Given the description of an element on the screen output the (x, y) to click on. 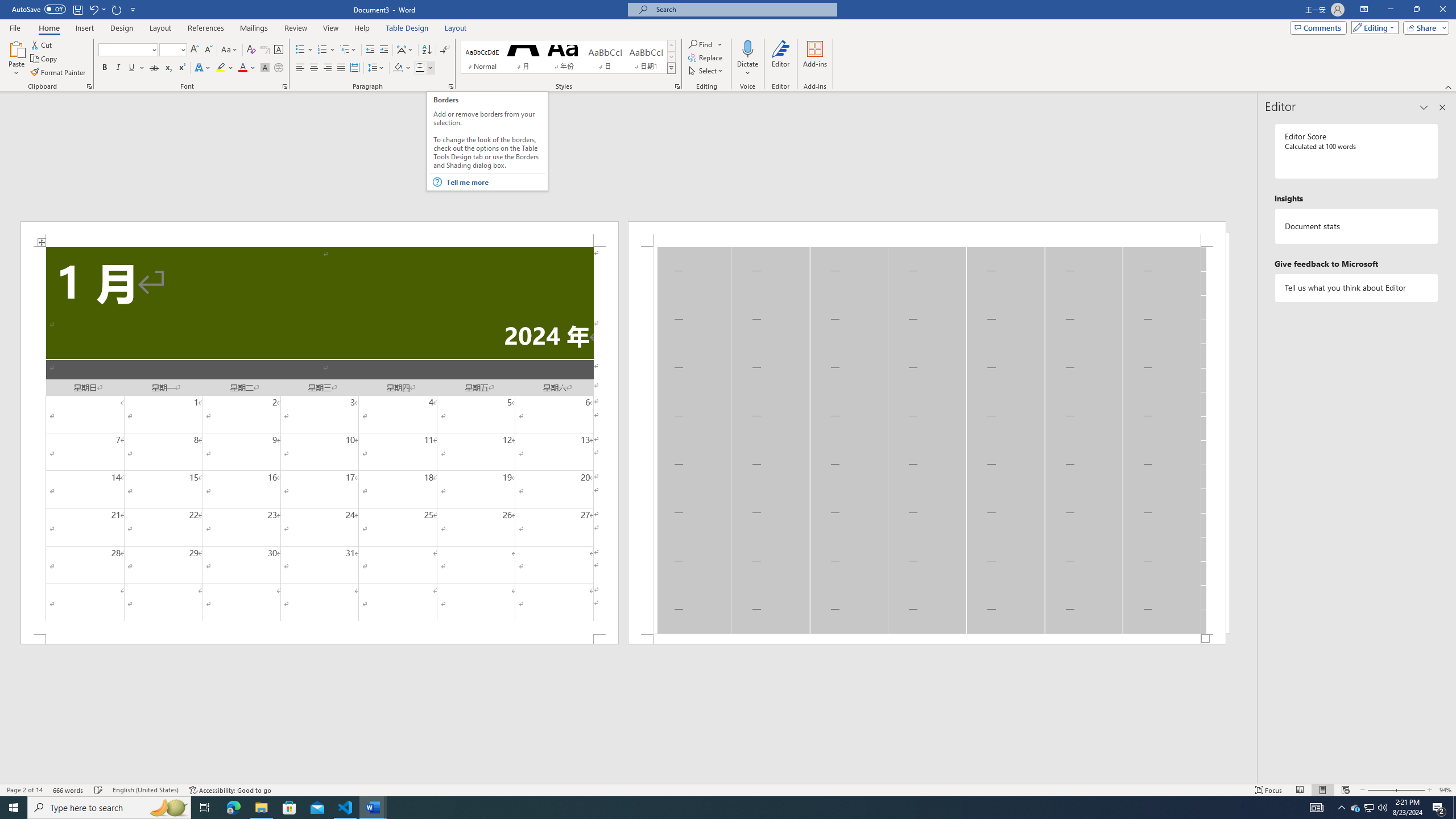
Copy (45, 58)
Font... (285, 85)
Character Border (278, 49)
Repeat Doc Close (117, 9)
Decrease Indent (370, 49)
Text Effects and Typography (202, 67)
Styles (670, 67)
Tell us what you think about Editor (1356, 288)
